Given the description of an element on the screen output the (x, y) to click on. 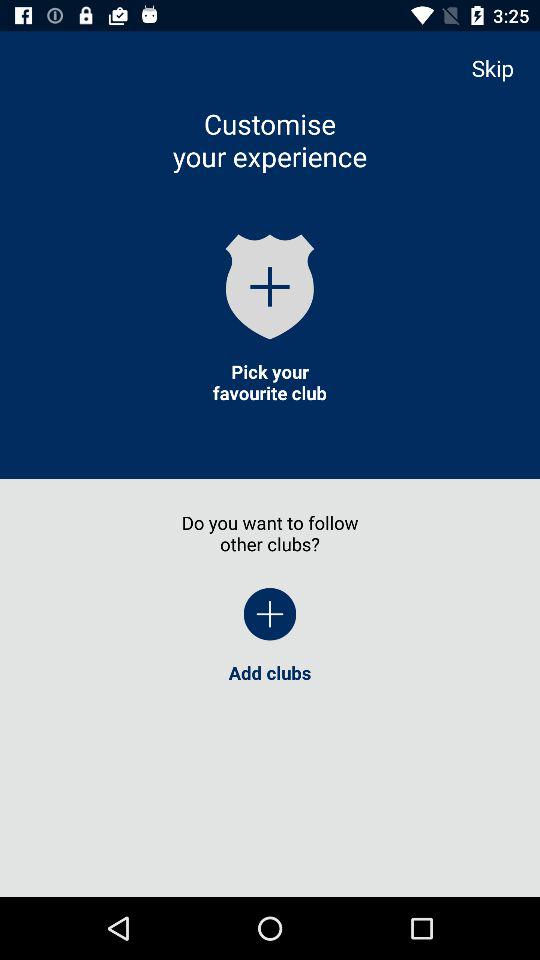
turn off item above the add clubs (502, 68)
